Given the description of an element on the screen output the (x, y) to click on. 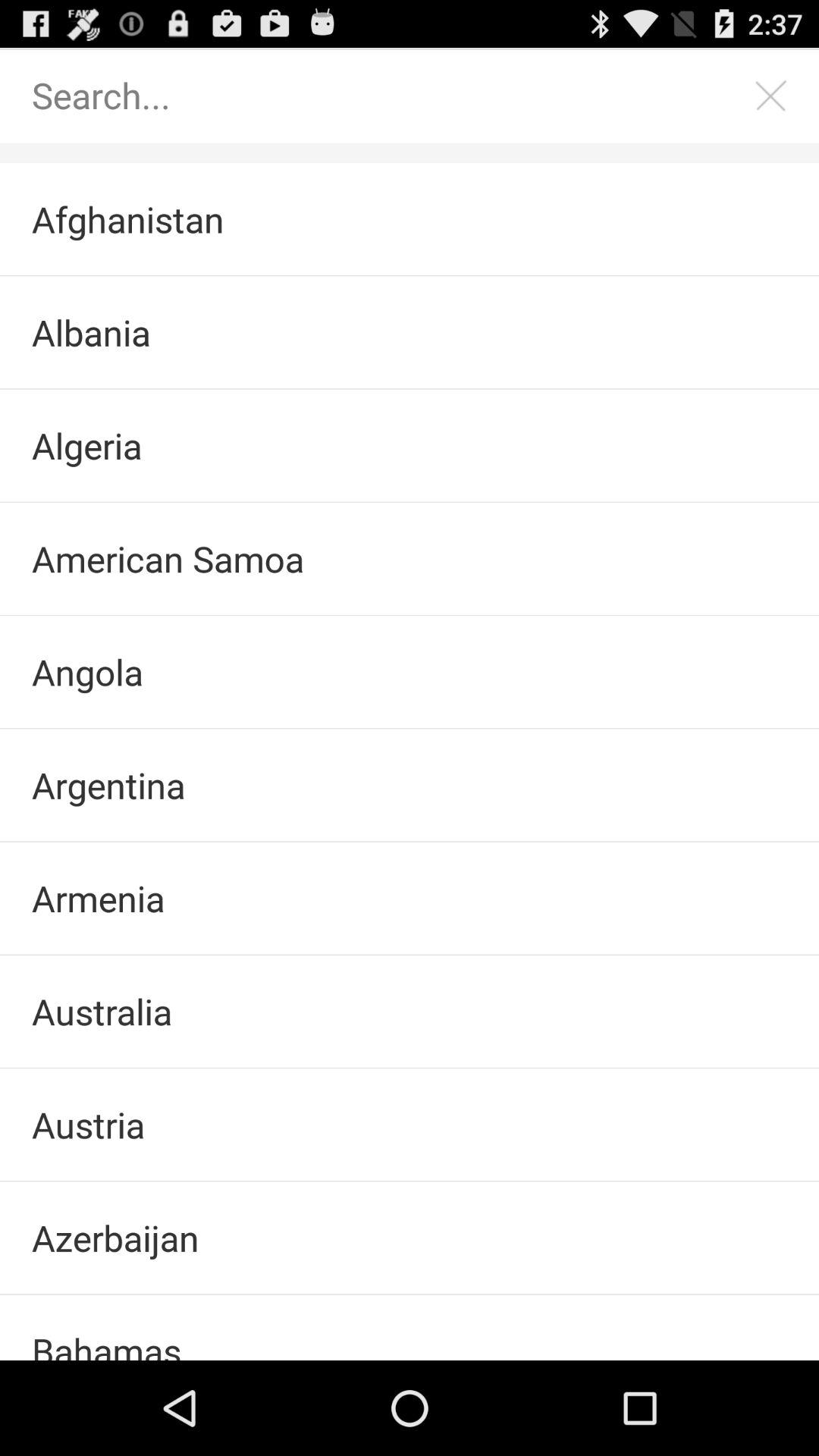
close search screen (771, 95)
